Given the description of an element on the screen output the (x, y) to click on. 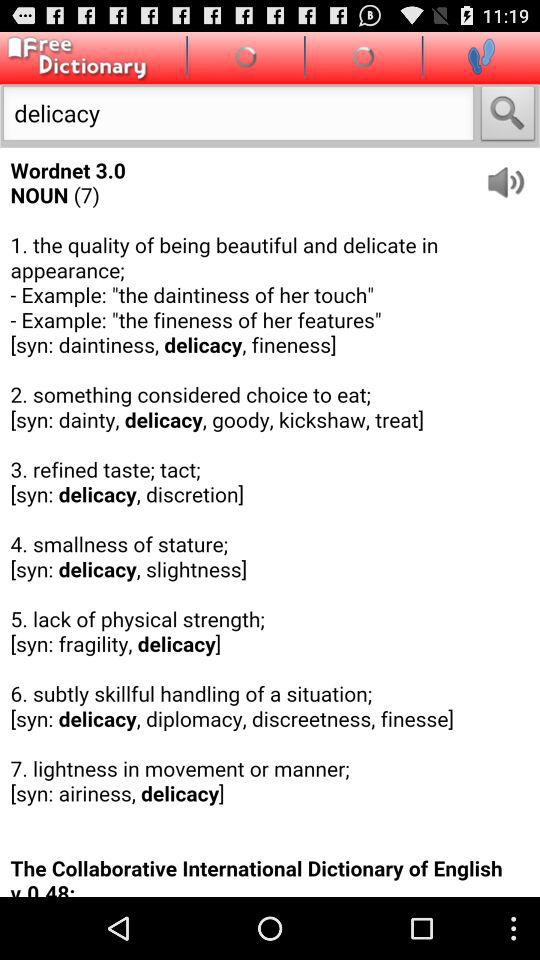
search (507, 115)
